Given the description of an element on the screen output the (x, y) to click on. 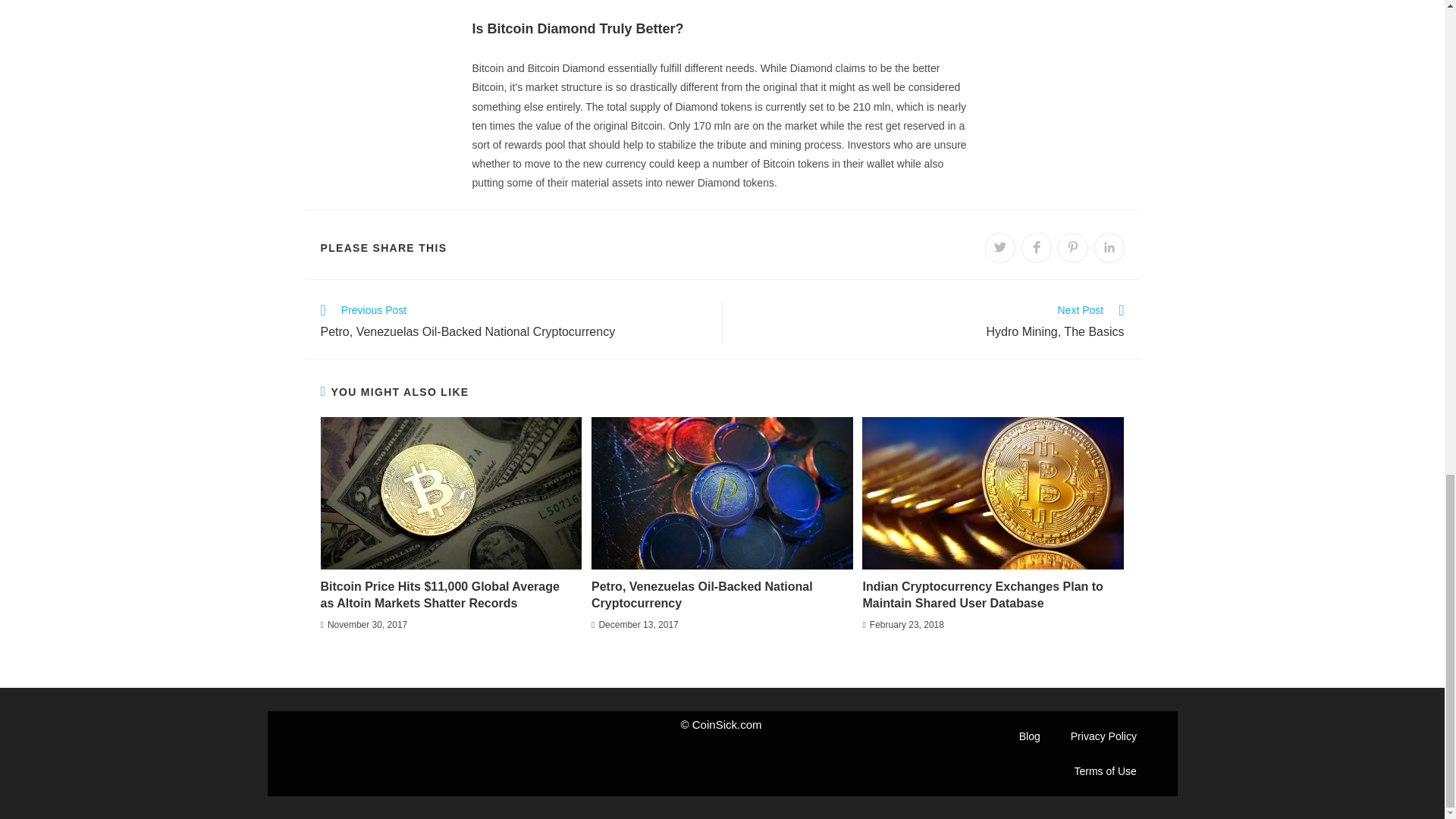
Blog (1029, 736)
Petro, Venezuelas Oil-Backed National Cryptocurrency (717, 595)
Terms of Use (1104, 770)
Privacy Policy (930, 322)
Petro, Venezuelas Oil-Backed National Cryptocurrency (1103, 736)
